Given the description of an element on the screen output the (x, y) to click on. 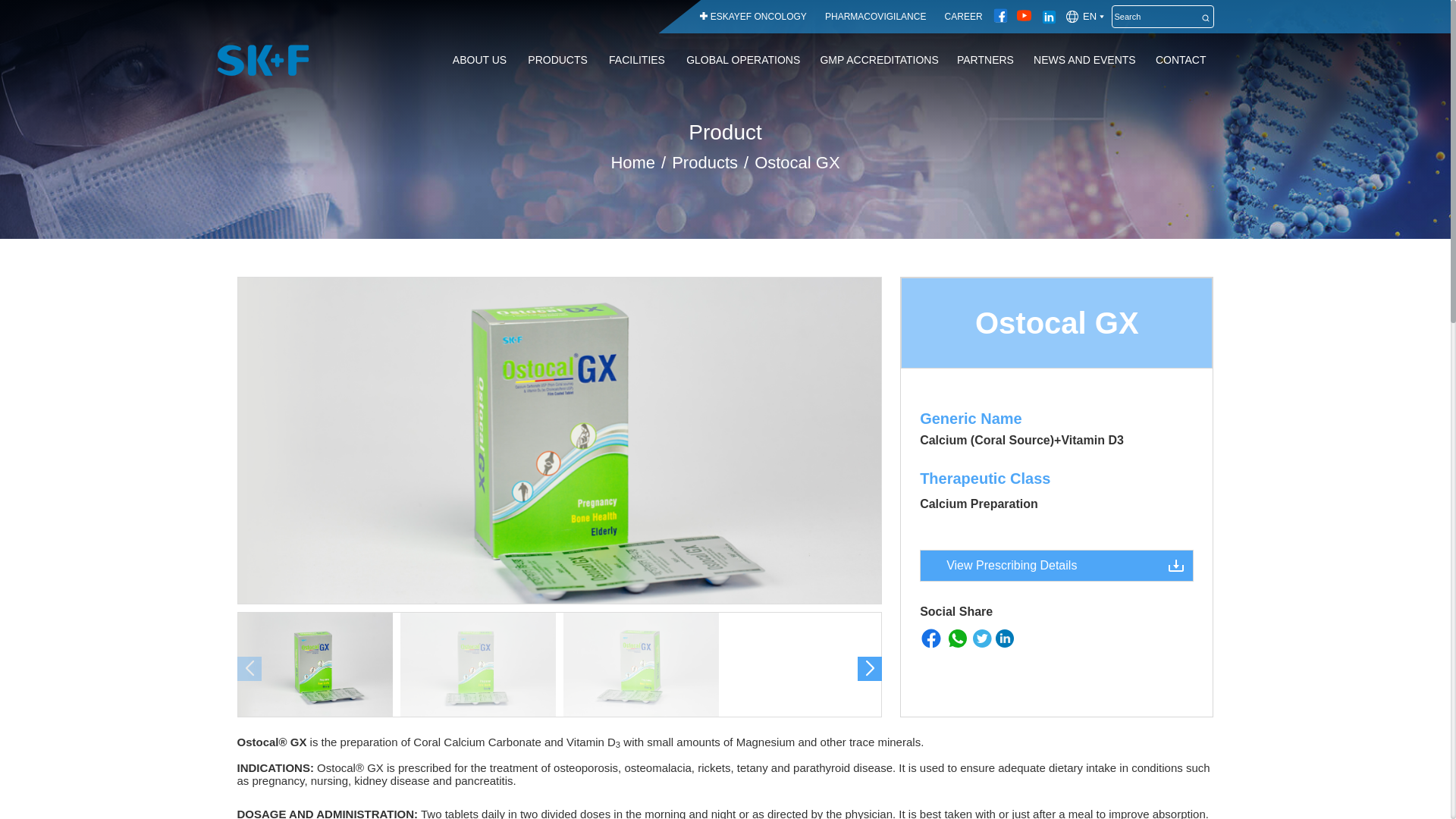
FACILITIES (636, 60)
PHARMACOVIGILANCE (874, 16)
ABOUT US (479, 60)
GLOBAL OPERATIONS (743, 60)
PRODUCTS (557, 60)
ESKAYEF ONCOLOGY (758, 16)
CAREER (963, 16)
